Given the description of an element on the screen output the (x, y) to click on. 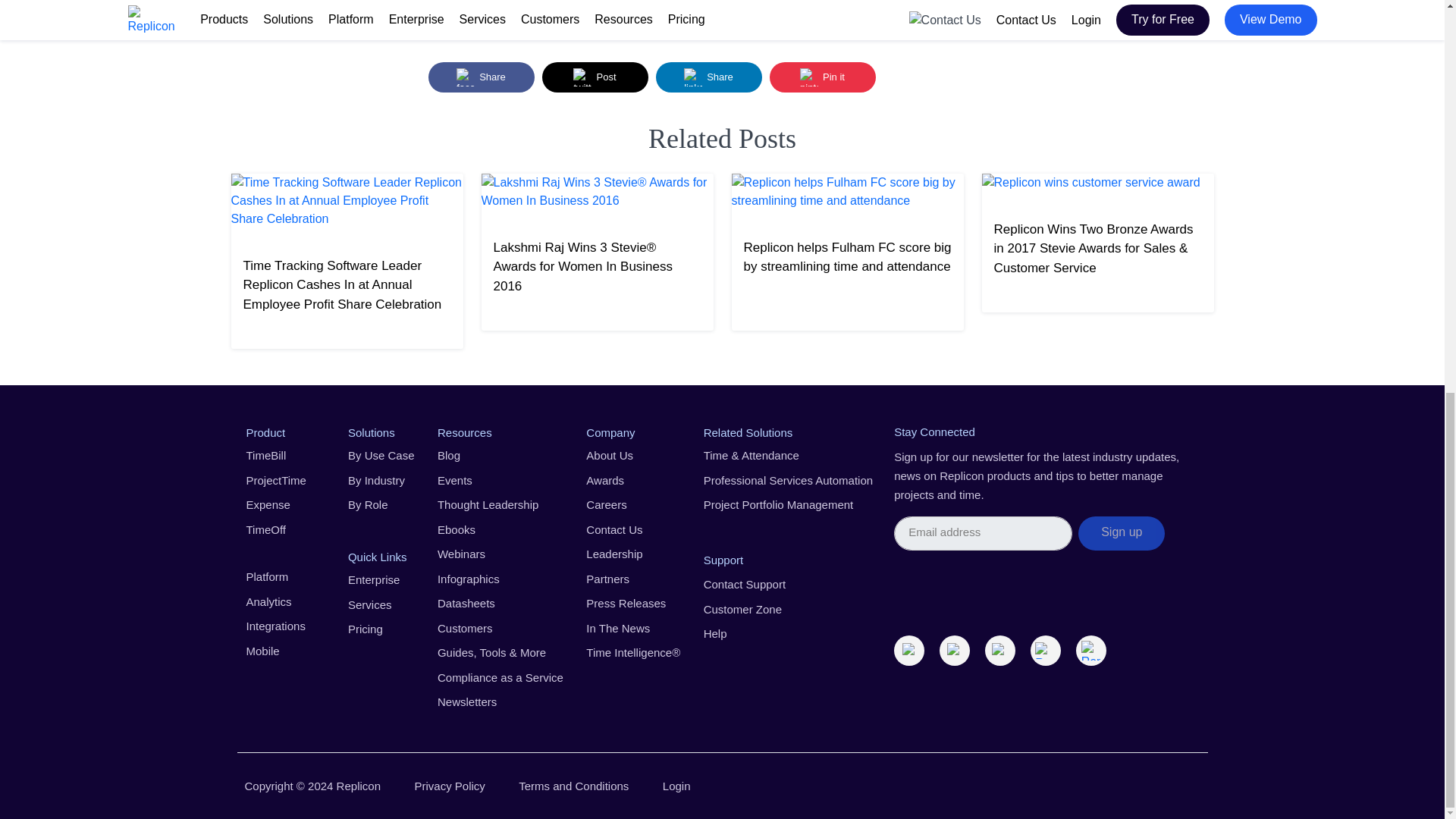
Share on X (594, 77)
Share on Facebook (481, 77)
Share on LinkedIn (708, 77)
Share on Pinterest (821, 77)
